Given the description of an element on the screen output the (x, y) to click on. 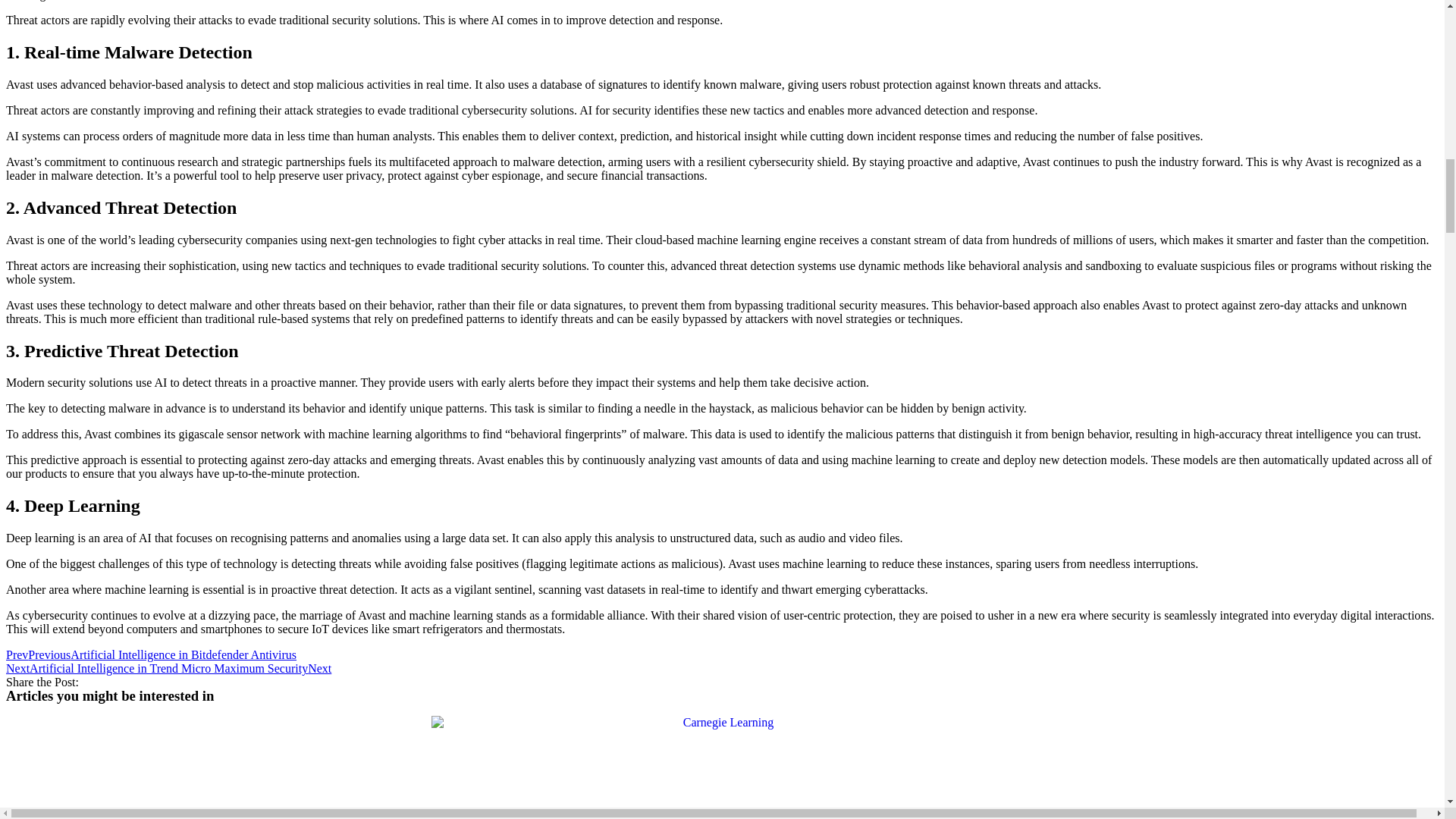
PrevPreviousArtificial Intelligence in Bitdefender Antivirus (151, 654)
